Given the description of an element on the screen output the (x, y) to click on. 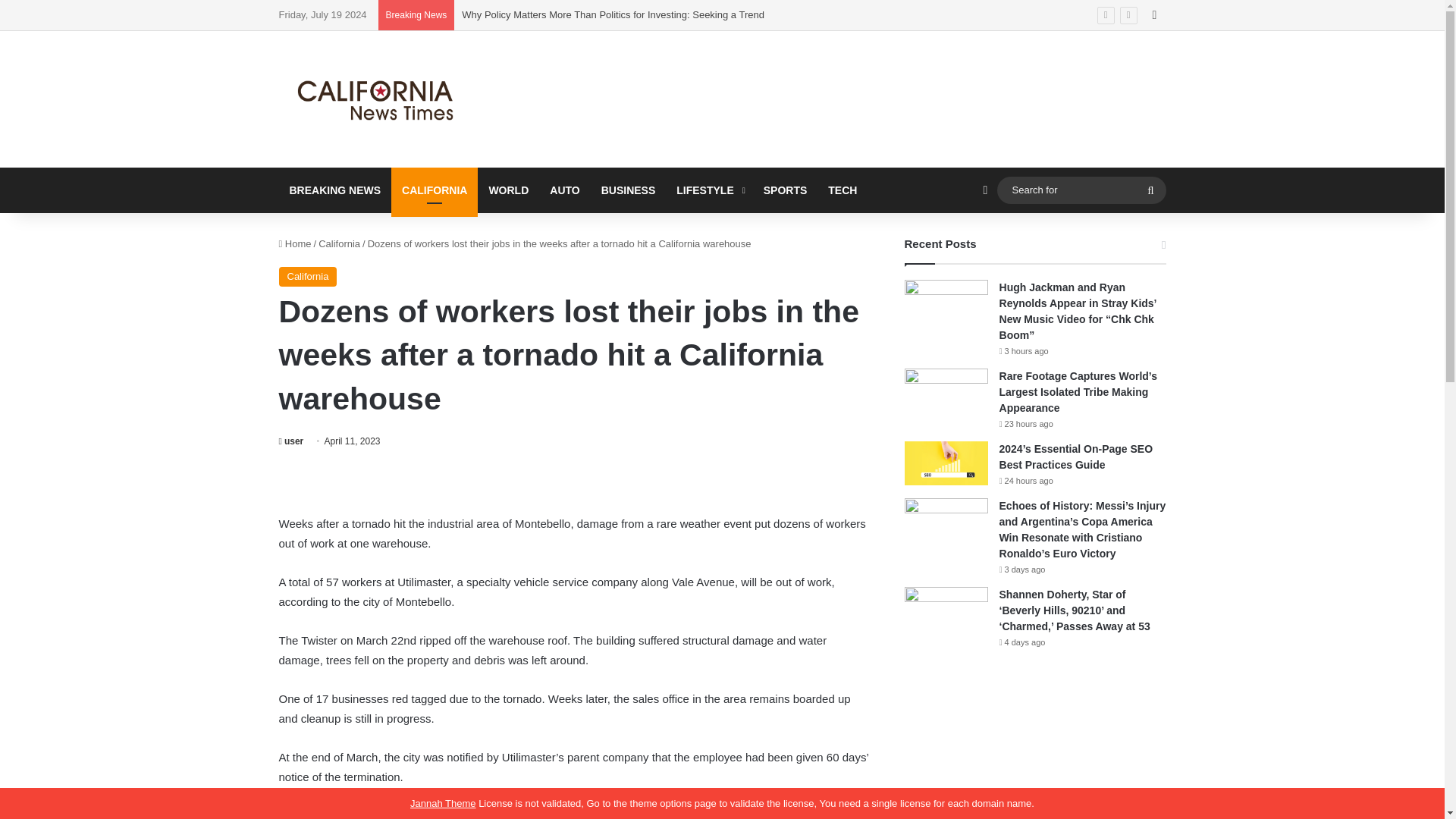
user (291, 440)
AUTO (563, 189)
TECH (841, 189)
LIFESTYLE (708, 189)
Search for (1080, 189)
user (291, 440)
Home (295, 243)
BREAKING NEWS (335, 189)
Californianewstimes.com (377, 99)
SPORTS (785, 189)
BUSINESS (628, 189)
Jannah Theme (443, 803)
WORLD (507, 189)
Search for (1150, 189)
California (338, 243)
